Given the description of an element on the screen output the (x, y) to click on. 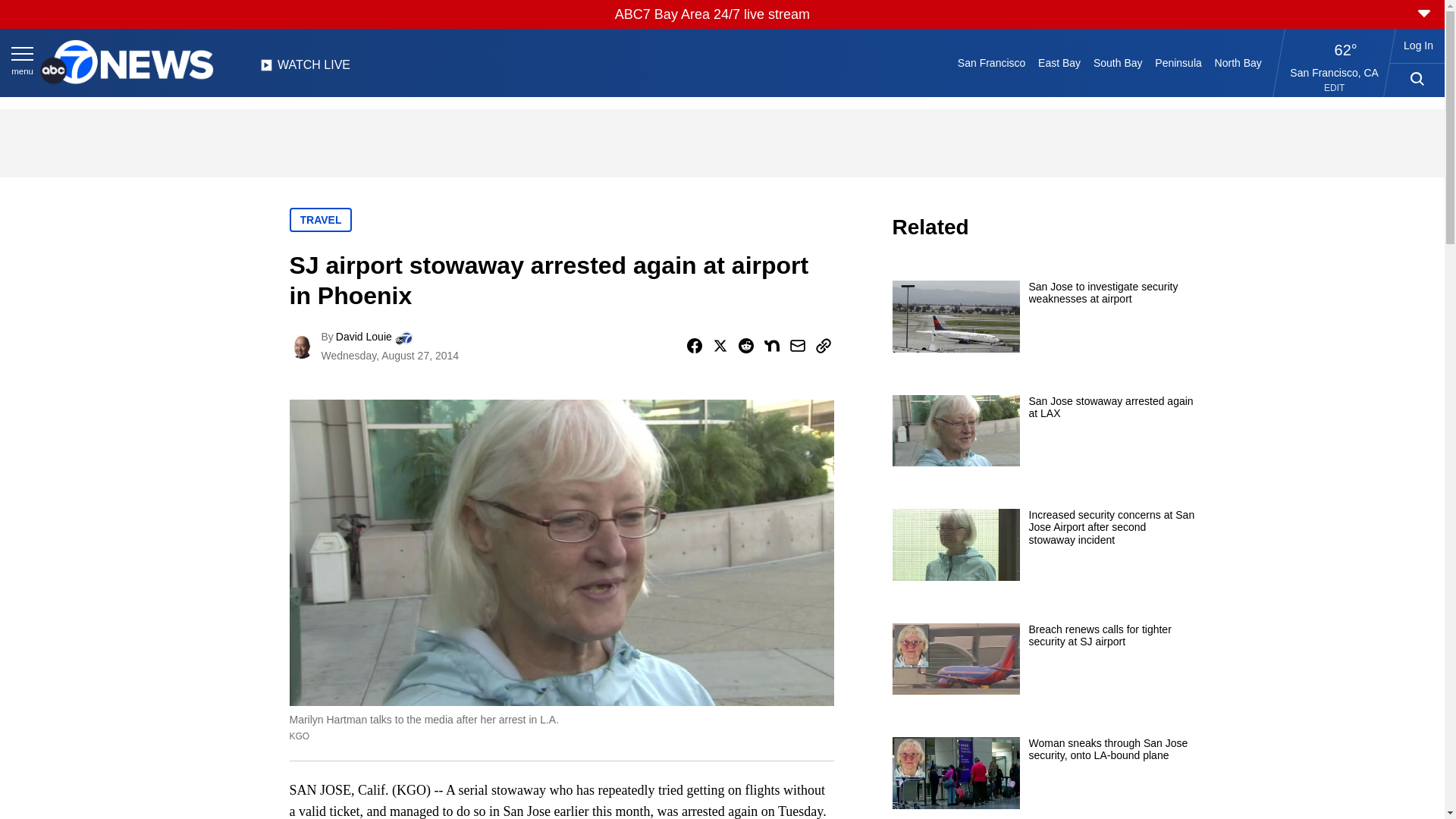
WATCH LIVE (305, 69)
Peninsula (1178, 62)
EDIT (1333, 87)
North Bay (1238, 62)
San Francisco (990, 62)
South Bay (1117, 62)
San Francisco, CA (1334, 72)
East Bay (1059, 62)
